Given the description of an element on the screen output the (x, y) to click on. 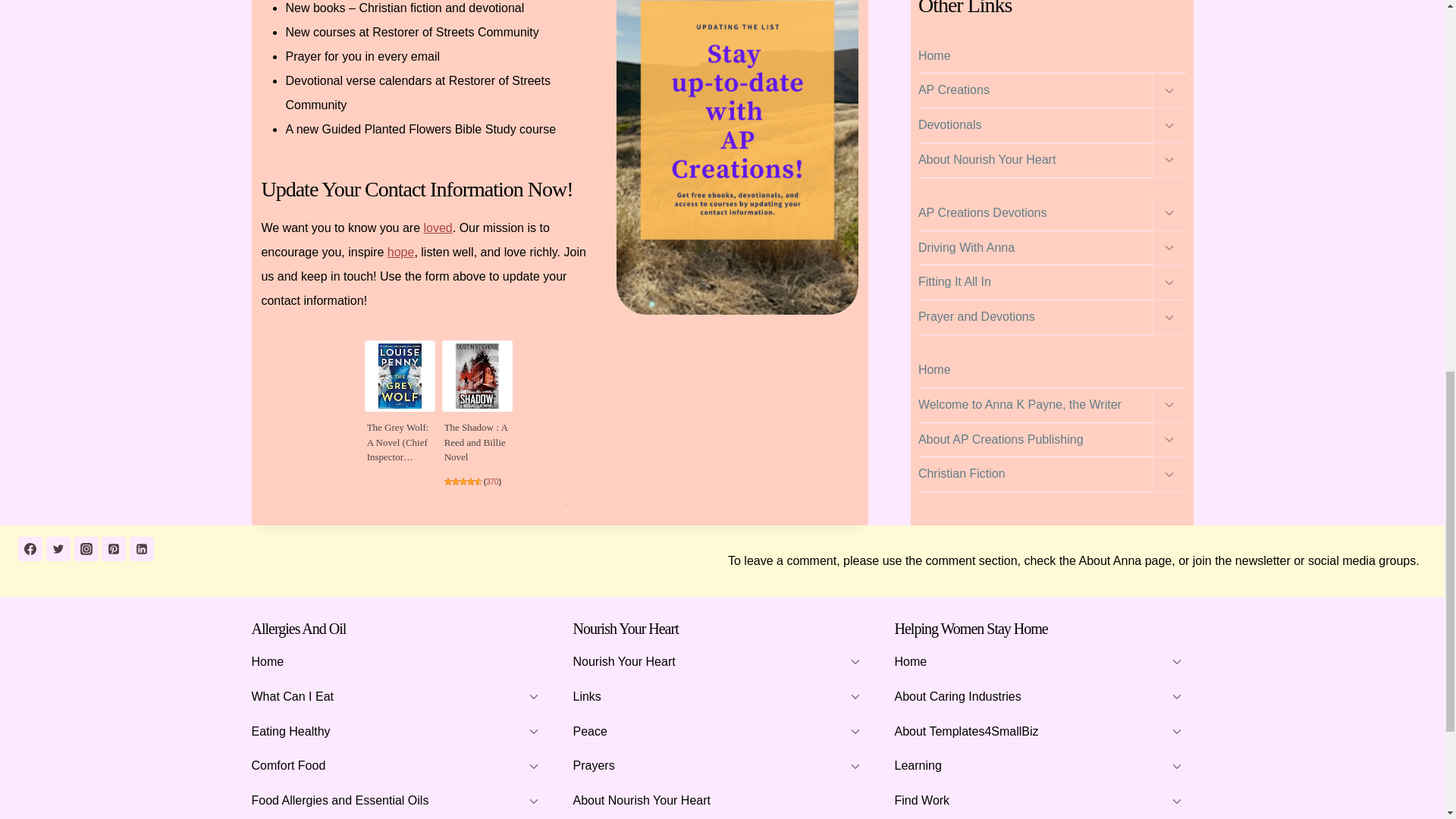
hope (400, 251)
loved (437, 227)
The Shadow : A Reed and Billie Novel:  (477, 375)
The Shadow : A Reed and Billie Novel:  (475, 441)
